Given the description of an element on the screen output the (x, y) to click on. 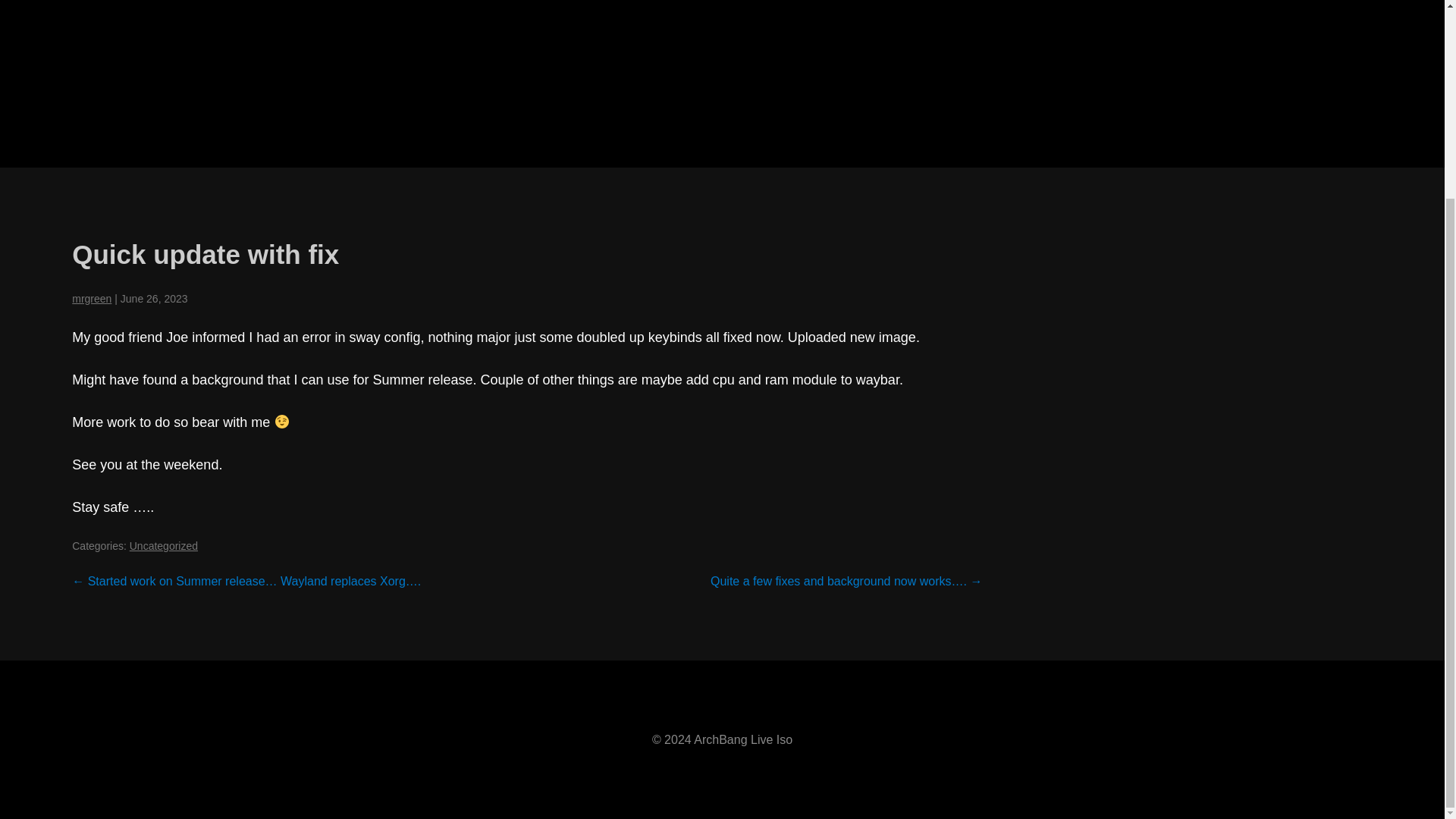
Quick update with fix (205, 254)
Uncategorized (163, 545)
mrgreen (91, 298)
June 26, 2023 (153, 298)
Posts by mrgreen (91, 298)
Quick update with fix (205, 254)
